Given the description of an element on the screen output the (x, y) to click on. 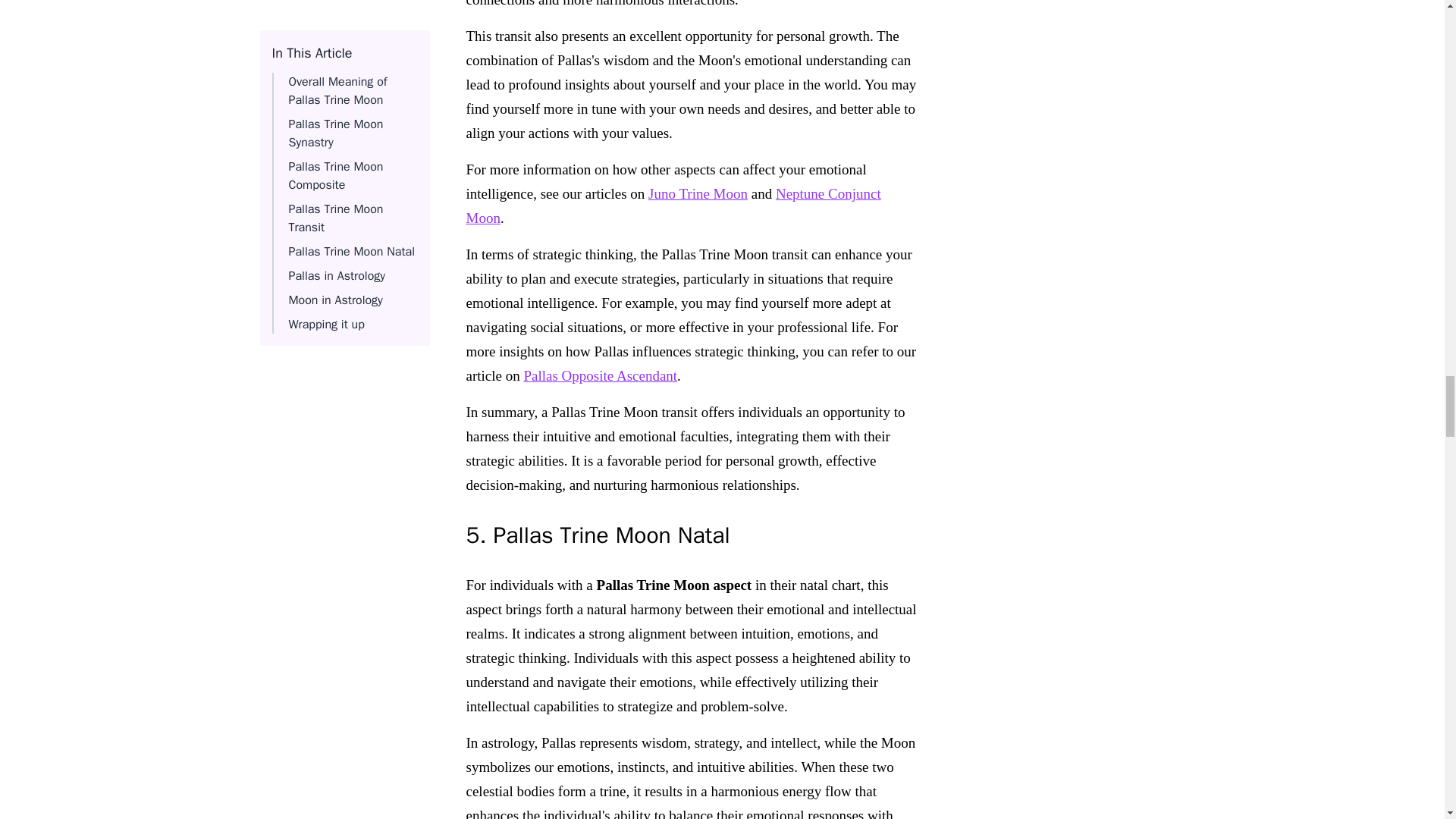
Neptune Conjunct Moon (672, 205)
Juno Trine Moon (697, 193)
Pallas Opposite Ascendant (599, 375)
